Given the description of an element on the screen output the (x, y) to click on. 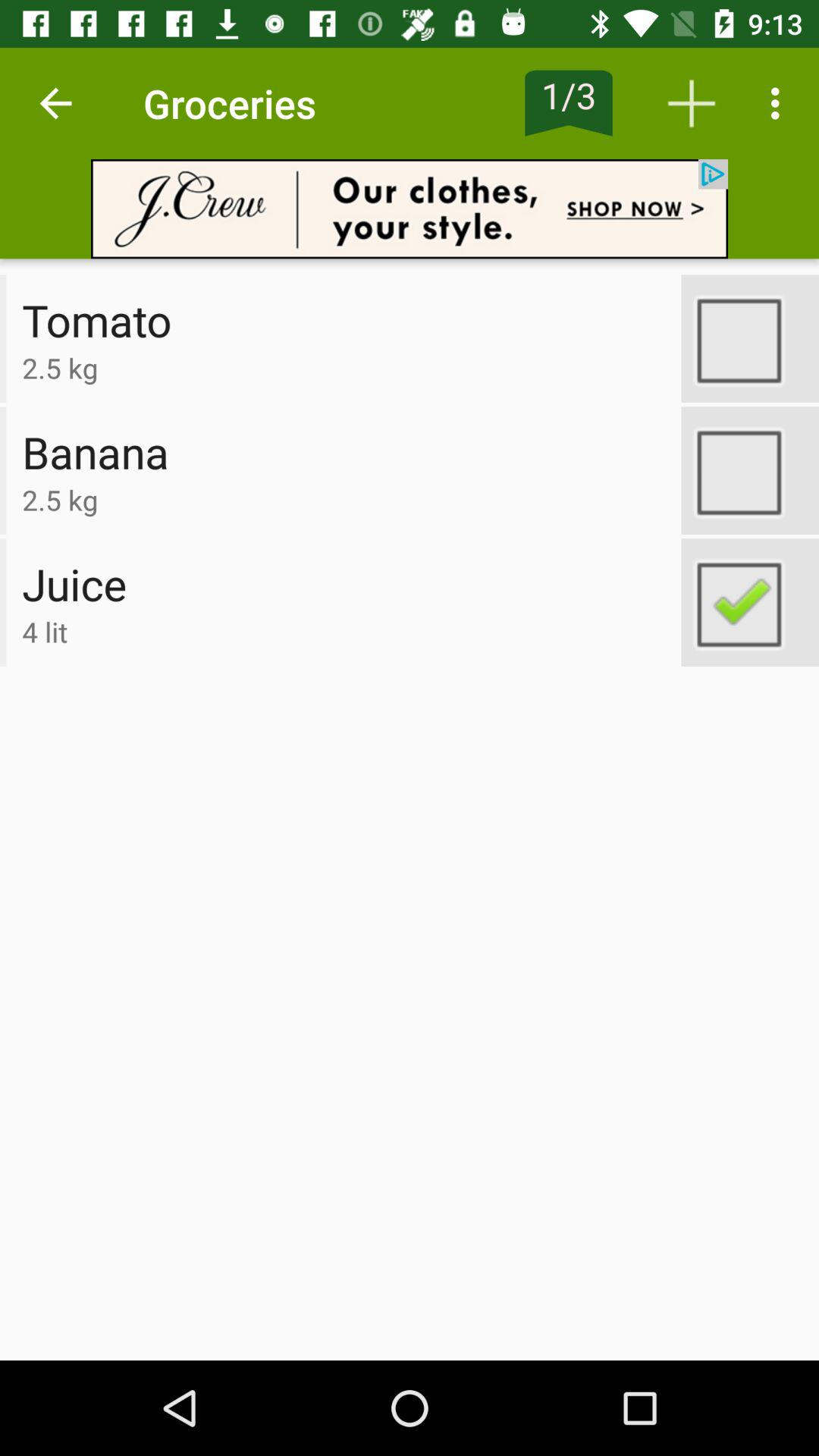
select tomato (750, 338)
